Given the description of an element on the screen output the (x, y) to click on. 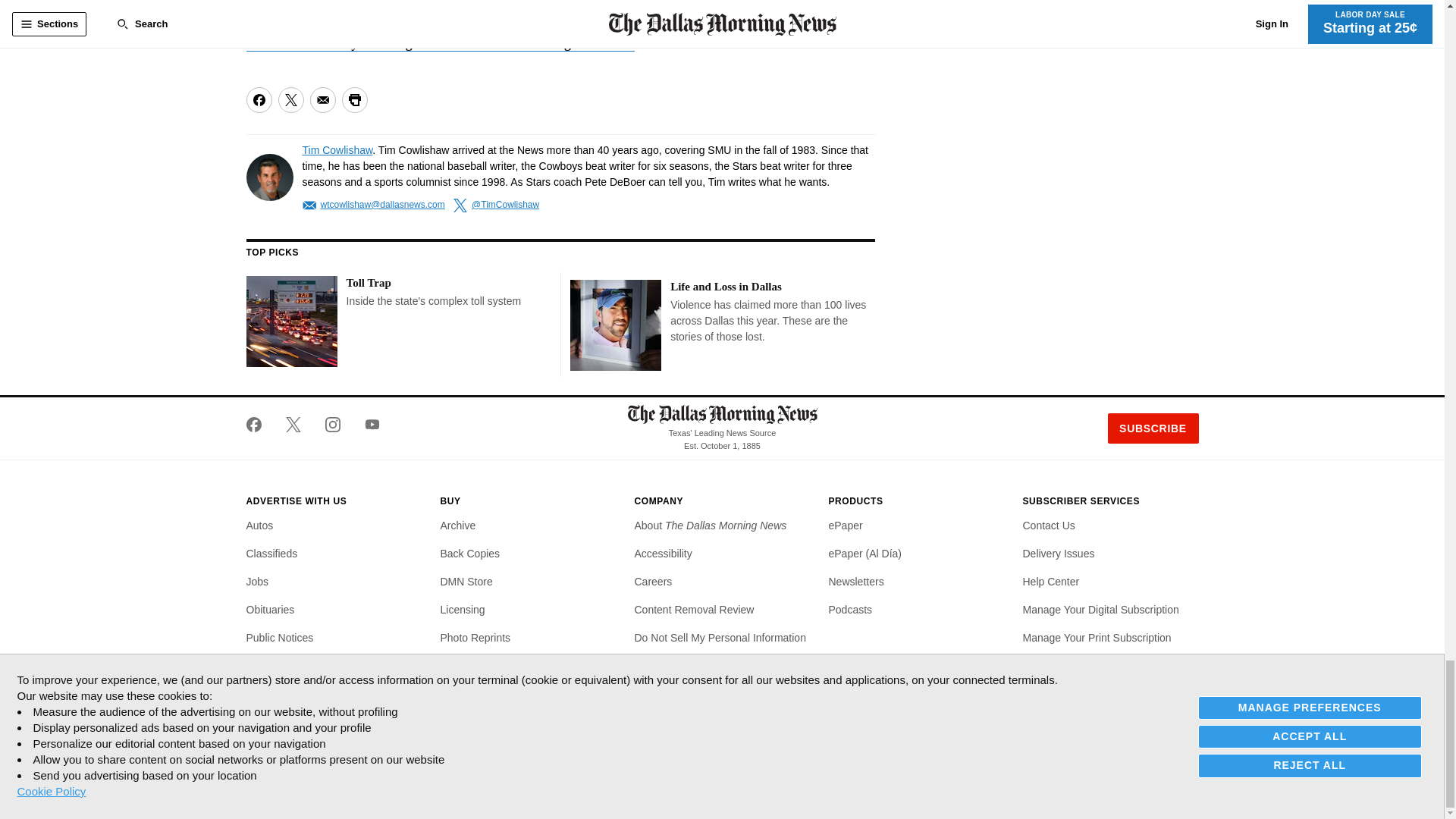
Share via Email (321, 99)
Share on Facebook (258, 99)
Print (353, 99)
The Dallas Morning News on Twitter (293, 424)
The Dallas Morning News on Instagram (332, 424)
The Dallas Morning News on Facebook (259, 424)
Share on Twitter (290, 99)
